Given the description of an element on the screen output the (x, y) to click on. 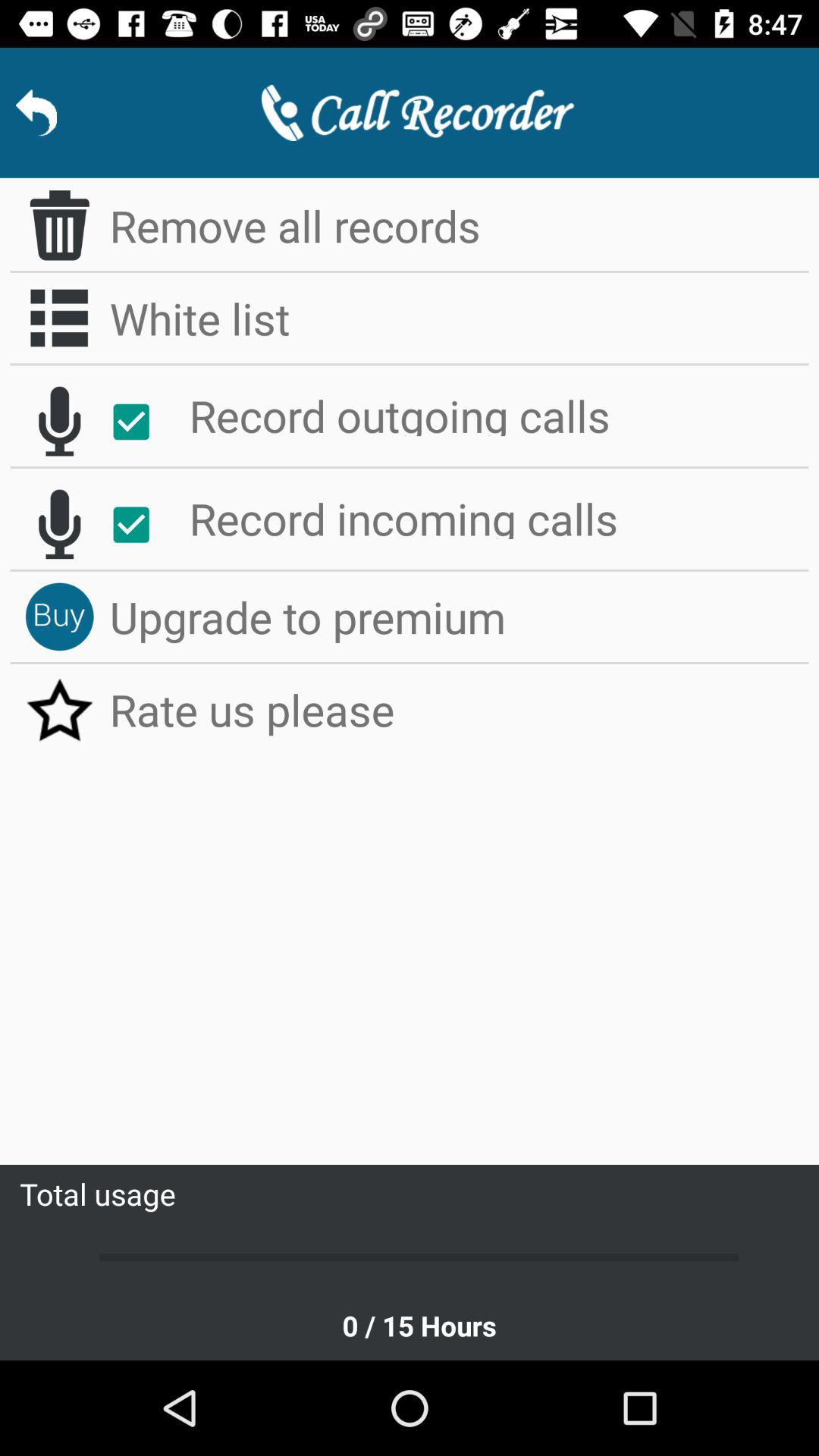
record outgoing calls toggle (139, 421)
